Given the description of an element on the screen output the (x, y) to click on. 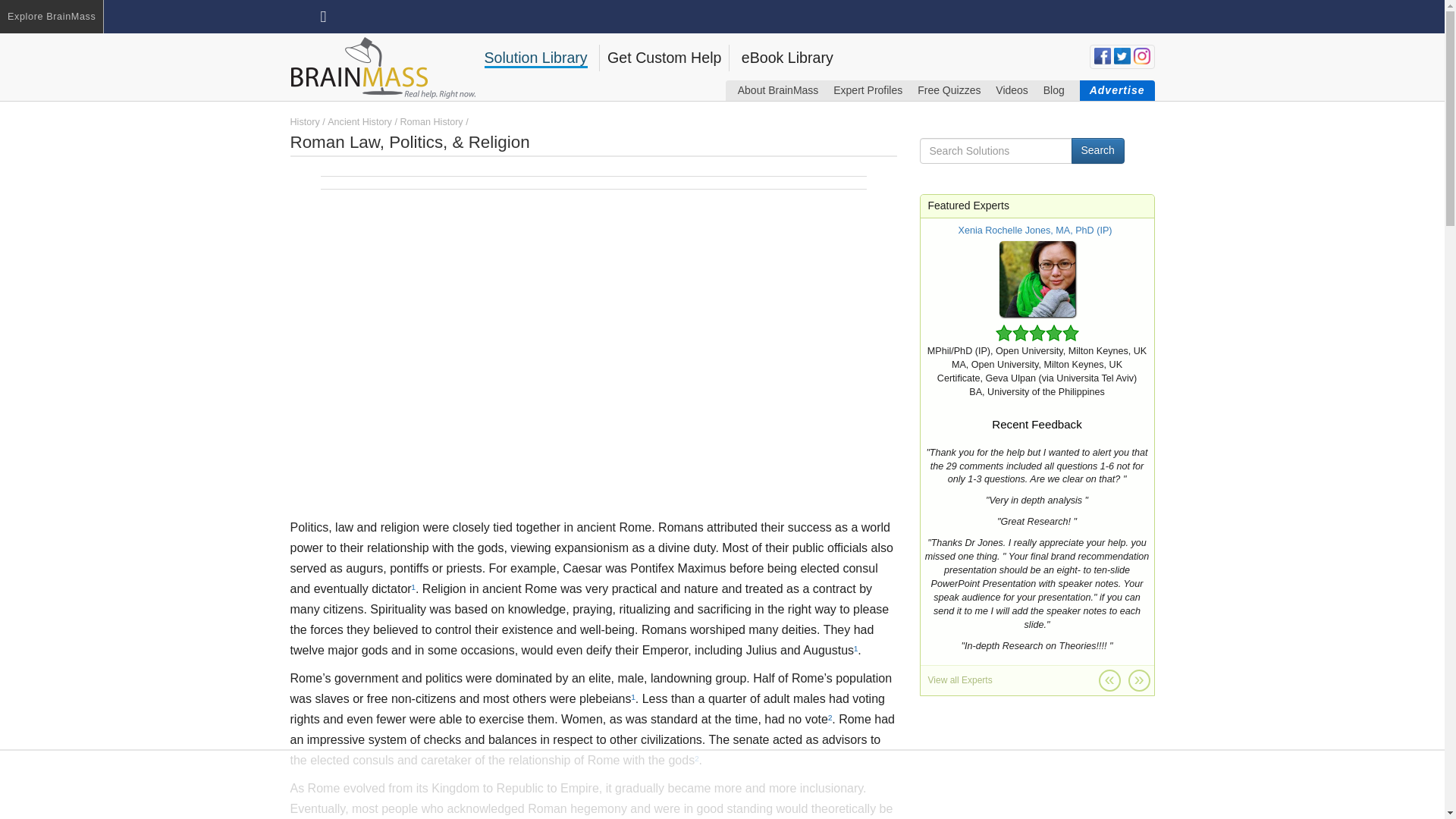
Free Quizzes (948, 90)
History (303, 122)
eBook Library (786, 57)
Expert Profiles (867, 90)
Roman History (430, 122)
Solution Library (534, 58)
Ancient History (359, 122)
Videos (1011, 90)
Advertise (1117, 90)
Blog (1053, 90)
